Given the description of an element on the screen output the (x, y) to click on. 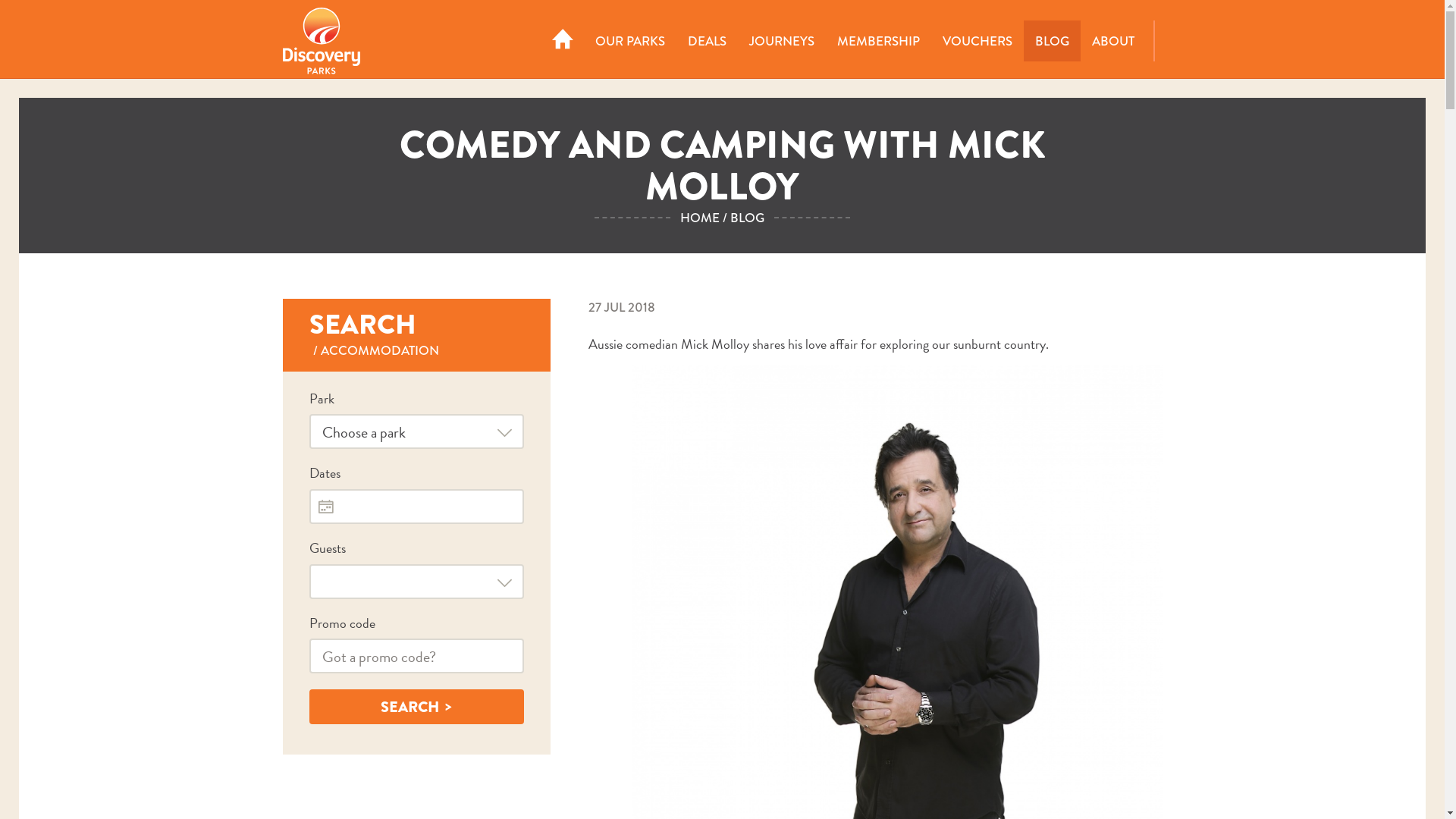
MEMBERSHIP Element type: text (877, 41)
OUR PARKS Element type: text (629, 41)
DEALS Element type: text (706, 41)
VOUCHERS Element type: text (977, 41)
HOME Element type: text (699, 217)
SEARCH Element type: text (416, 706)
JOURNEYS Element type: text (781, 41)
BLOG Element type: text (1051, 41)
HOME Element type: text (562, 40)
ABOUT Element type: text (1112, 41)
